Given the description of an element on the screen output the (x, y) to click on. 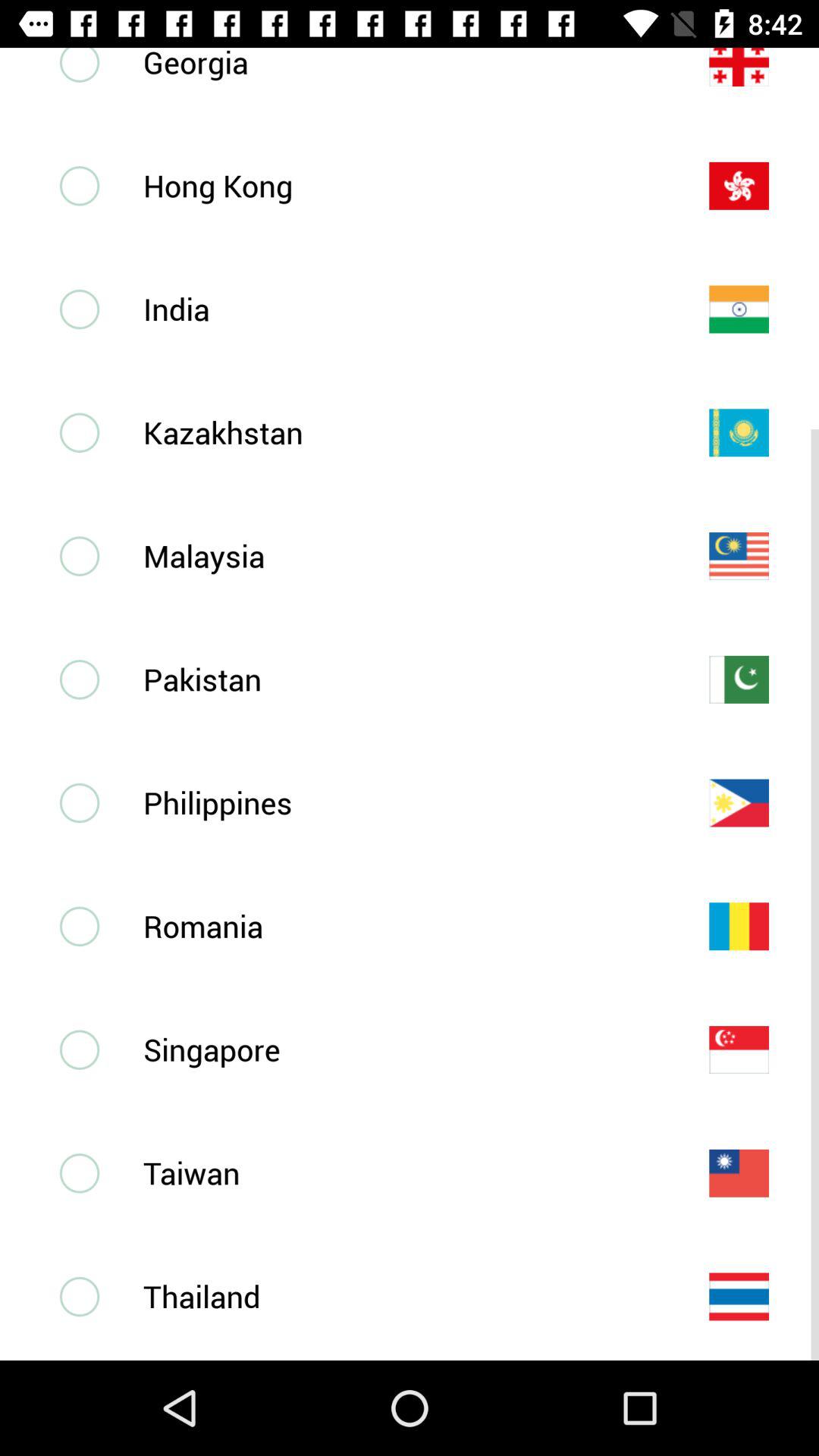
jump until philippines item (401, 802)
